Given the description of an element on the screen output the (x, y) to click on. 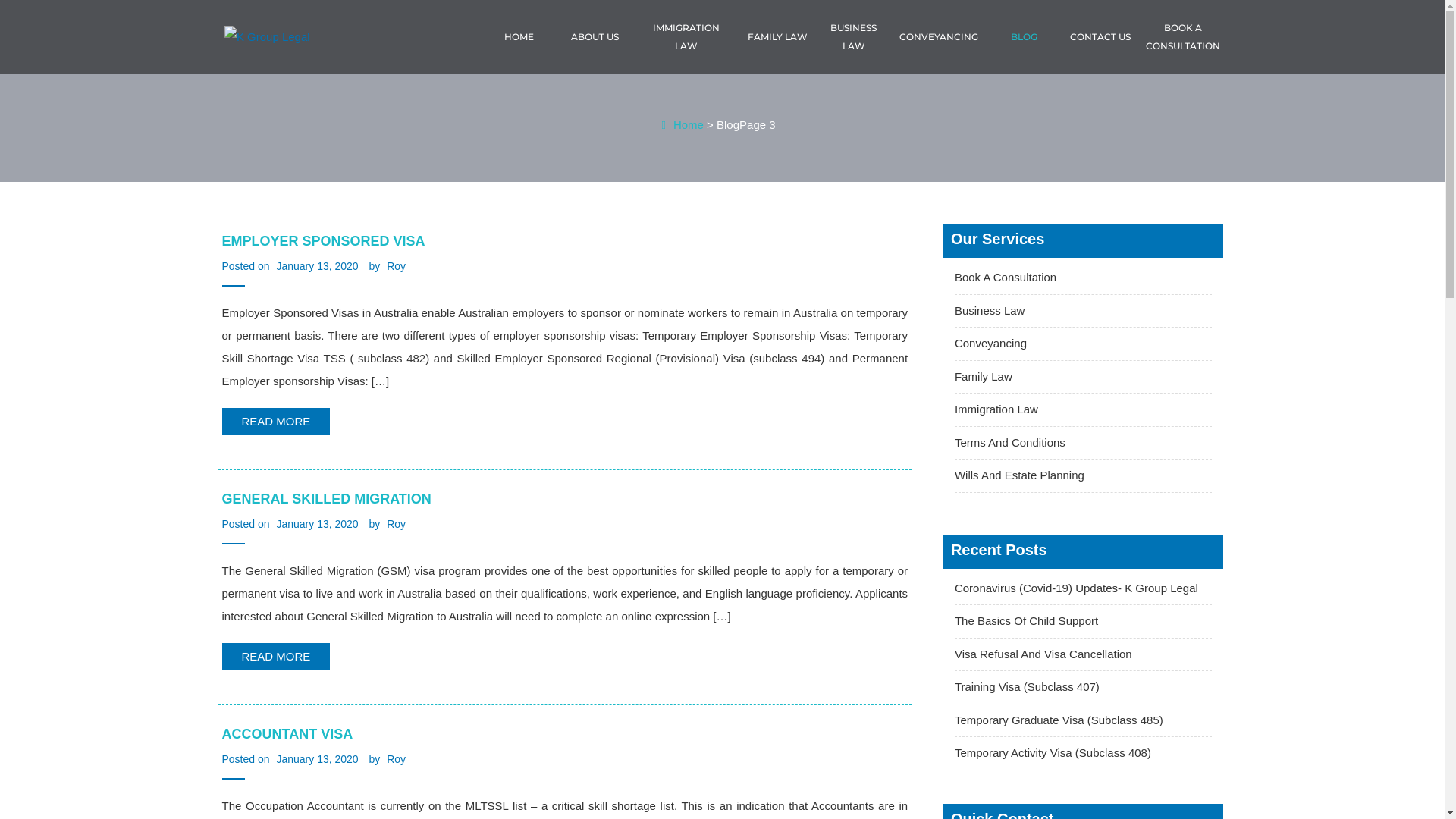
Conveyancing Element type: text (1082, 343)
ABOUT US Element type: text (595, 37)
EMPLOYER SPONSORED VISA Element type: text (564, 240)
IMMIGRATION LAW Element type: text (686, 37)
Coronavirus (Covid-19) Updates- K Group Legal Element type: text (1082, 587)
Family Law Element type: text (1082, 376)
HOME Element type: text (518, 37)
Immigration Law Element type: text (1082, 409)
READ MORE Element type: text (275, 656)
Temporary Activity Visa (Subclass 408) Element type: text (1082, 753)
Temporary Graduate Visa (Subclass 485) Element type: text (1082, 719)
January 13, 2020 Element type: text (316, 759)
BLOG Element type: text (1023, 37)
The Basics Of Child Support Element type: text (1082, 621)
Book A Consultation Element type: text (1082, 277)
CONTACT US Element type: text (1100, 37)
Training Visa (Subclass 407) Element type: text (1082, 687)
Business Law Element type: text (1082, 310)
FAMILY LAW Element type: text (777, 37)
BUSINESS LAW Element type: text (853, 37)
Terms And Conditions Element type: text (1082, 442)
GENERAL SKILLED MIGRATION Element type: text (564, 498)
January 13, 2020 Element type: text (316, 266)
January 13, 2020 Element type: text (316, 523)
K GROUP LEGAL Element type: text (316, 71)
Roy Element type: text (395, 523)
Wills And Estate Planning Element type: text (1082, 475)
READ MORE Element type: text (275, 421)
Roy Element type: text (395, 266)
Home Element type: text (682, 124)
BOOK A
CONSULTATION Element type: text (1179, 37)
Visa Refusal And Visa Cancellation Element type: text (1082, 654)
ACCOUNTANT VISA Element type: text (564, 733)
Skip to content Element type: text (0, 0)
CONVEYANCING Element type: text (938, 37)
Roy Element type: text (395, 759)
